Given the description of an element on the screen output the (x, y) to click on. 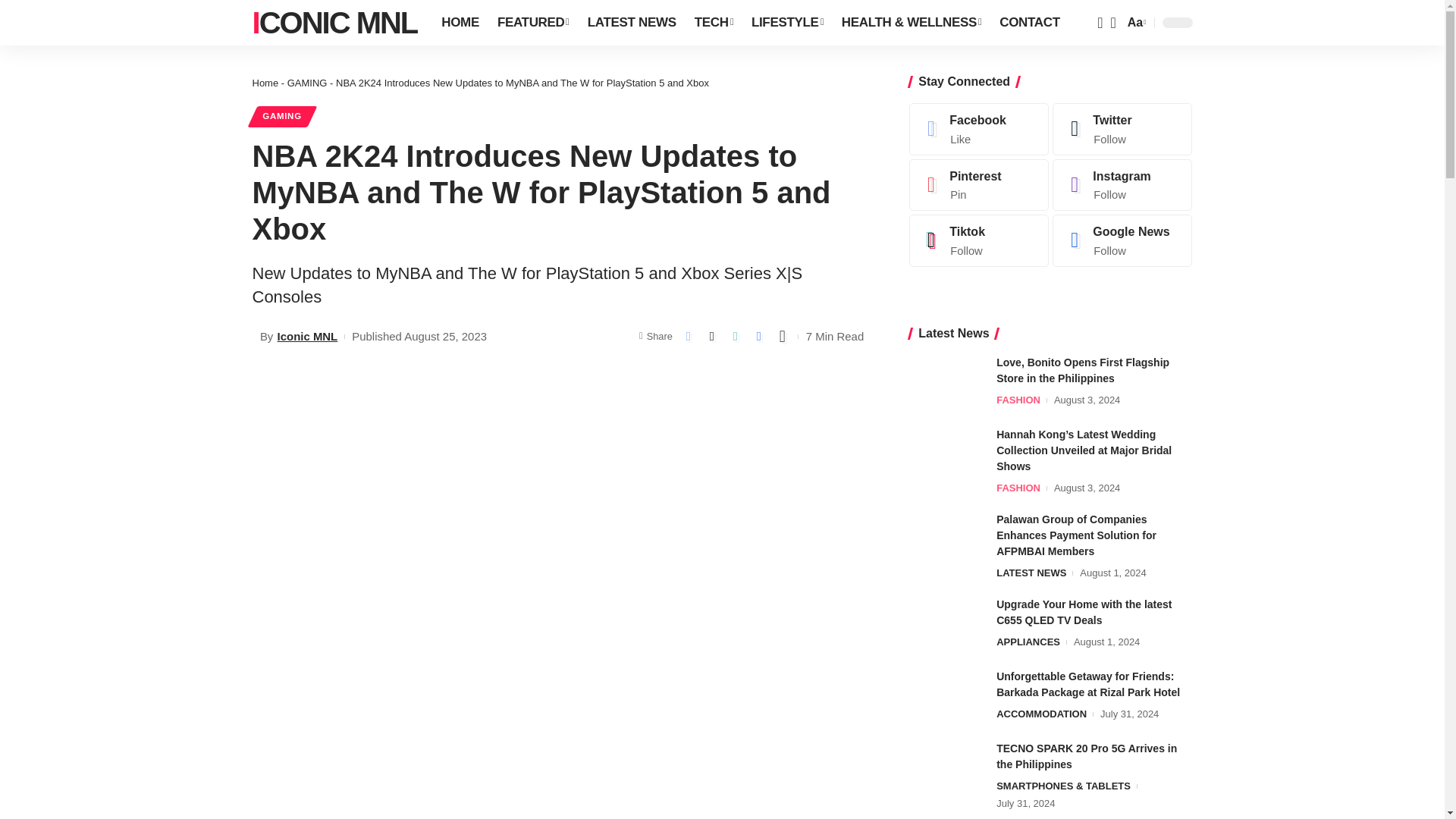
LATEST NEWS (631, 22)
Love, Bonito Opens First Flagship Store in the Philippines (946, 382)
TECNO SPARK 20 Pro 5G Arrives in the Philippines (946, 769)
TECH (713, 22)
FEATURED (532, 22)
HOME (459, 22)
LIFESTYLE (787, 22)
Iconic MNL (333, 22)
